Given the description of an element on the screen output the (x, y) to click on. 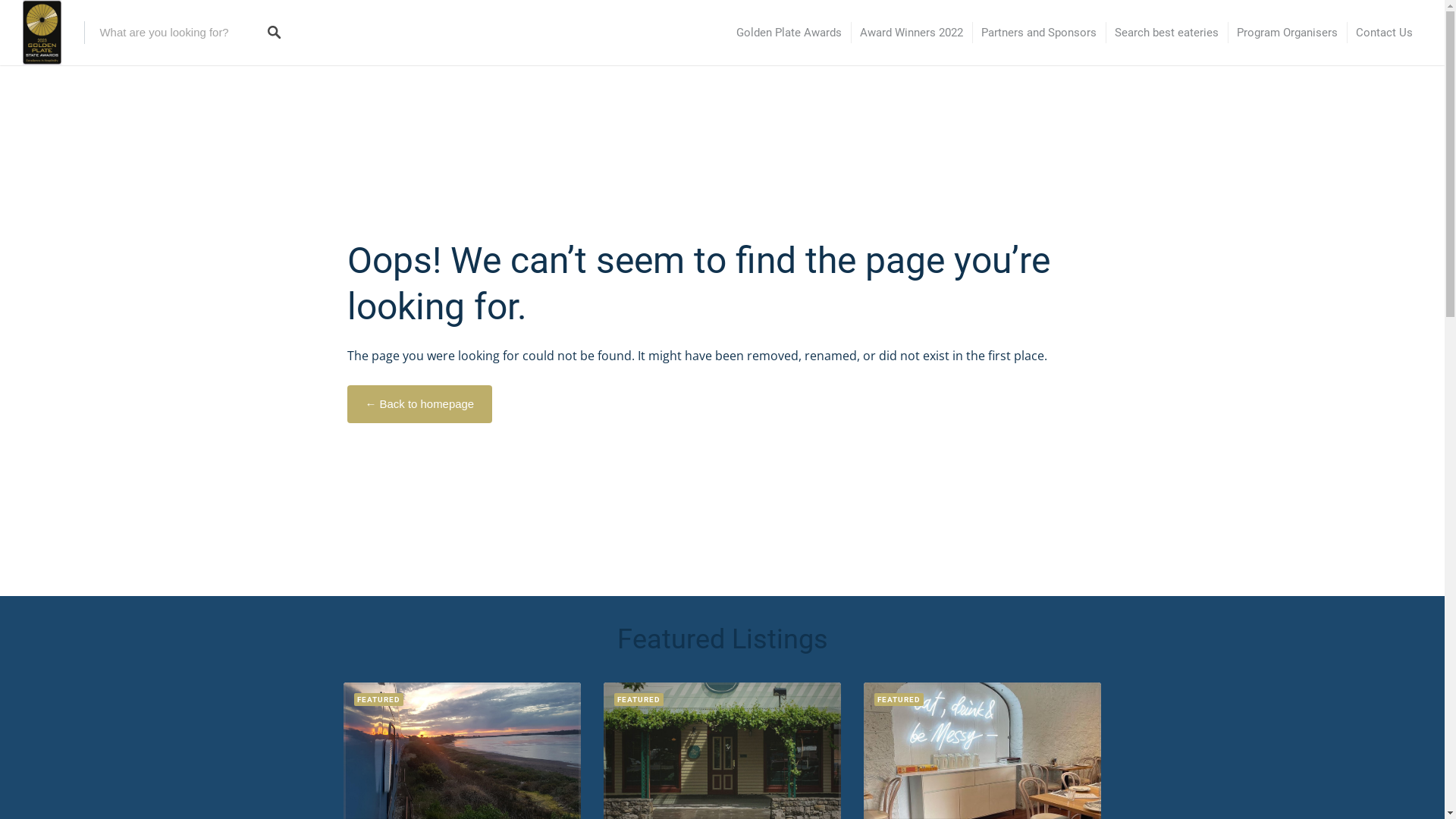
Golden Plate Awards Element type: text (788, 32)
Search best eateries Element type: text (1166, 32)
Partners and Sponsors Element type: text (1038, 32)
Award Winners 2022 Element type: text (911, 32)
Contact Us Element type: text (1383, 32)
Program Organisers Element type: text (1286, 32)
